Given the description of an element on the screen output the (x, y) to click on. 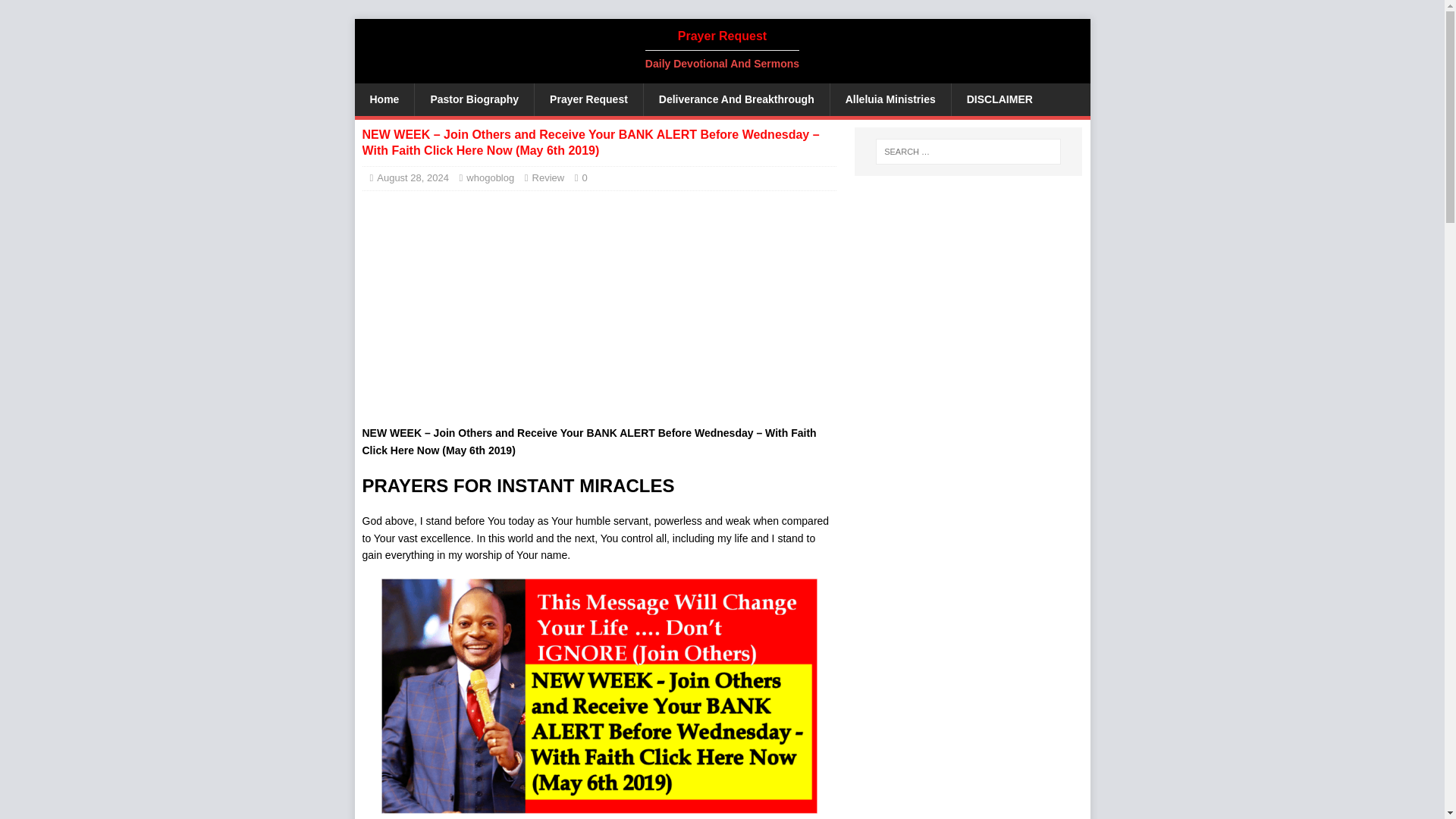
Review (548, 177)
Home (384, 99)
Pastor Biography (473, 99)
Search (56, 11)
August 28, 2024 (412, 177)
Prayer Request (588, 99)
whogoblog (489, 177)
